Given the description of an element on the screen output the (x, y) to click on. 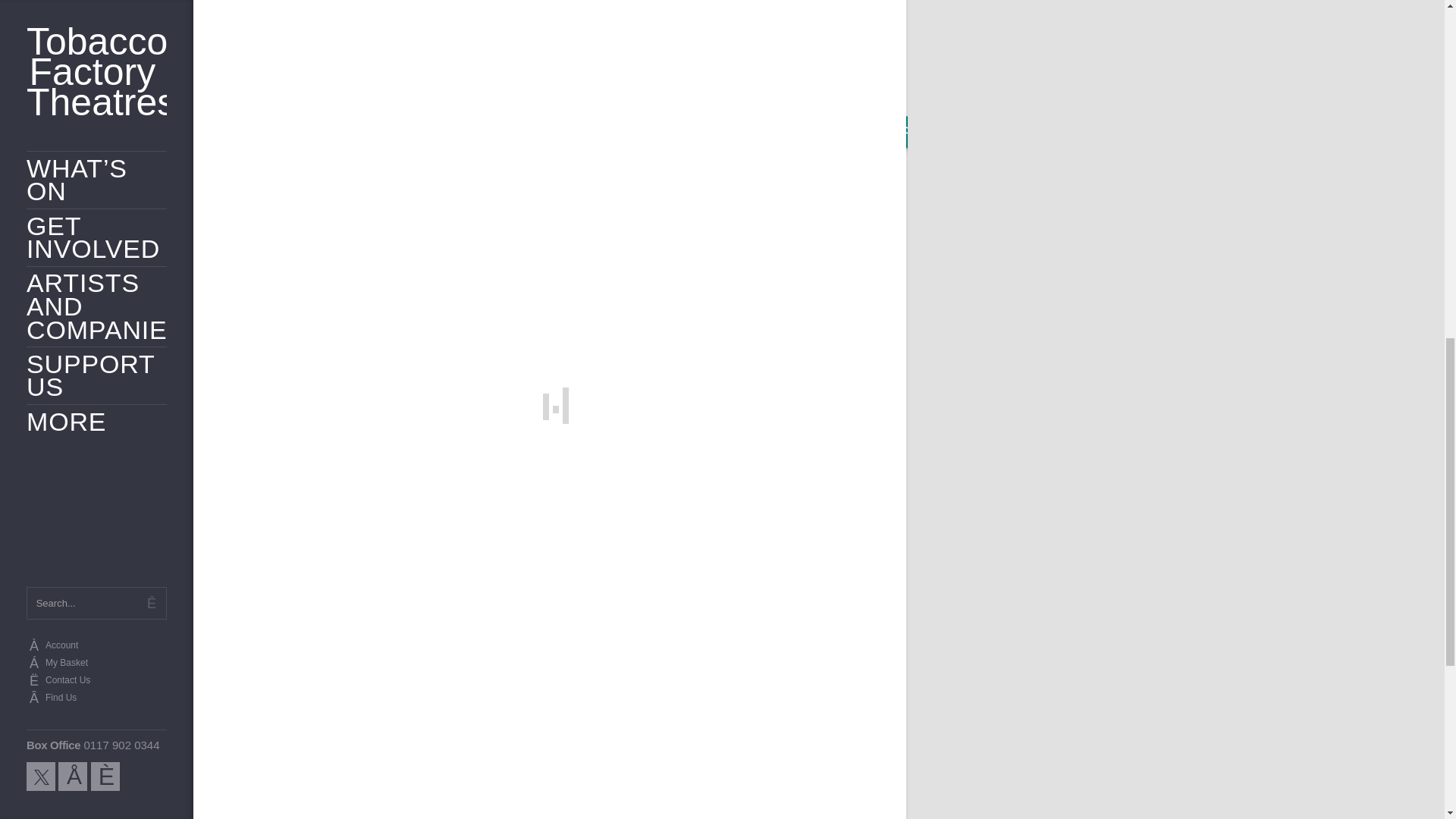
Big Boys Don't Cry Full Trailer (441, 7)
Read more about our Covid safety measures this winter. (729, 154)
Gwyneth Goes Skiing (777, 798)
Claytime (550, 798)
Matt Forde: End Of An Era Tour (321, 798)
